Given the description of an element on the screen output the (x, y) to click on. 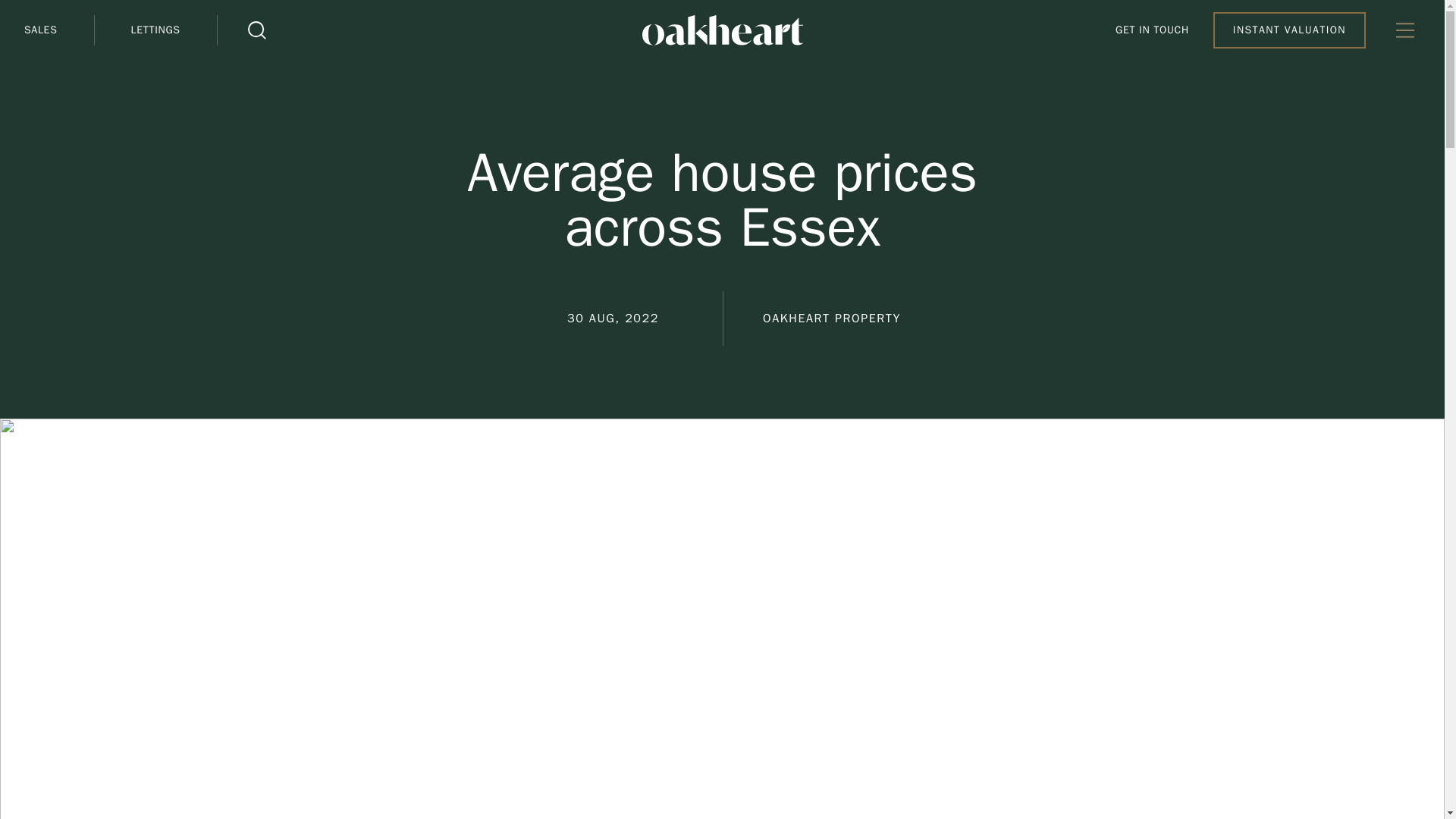
INSTANT VALUATION (1288, 30)
GET IN TOUCH (1152, 29)
SALES (59, 29)
LETTINGS (155, 29)
